Given the description of an element on the screen output the (x, y) to click on. 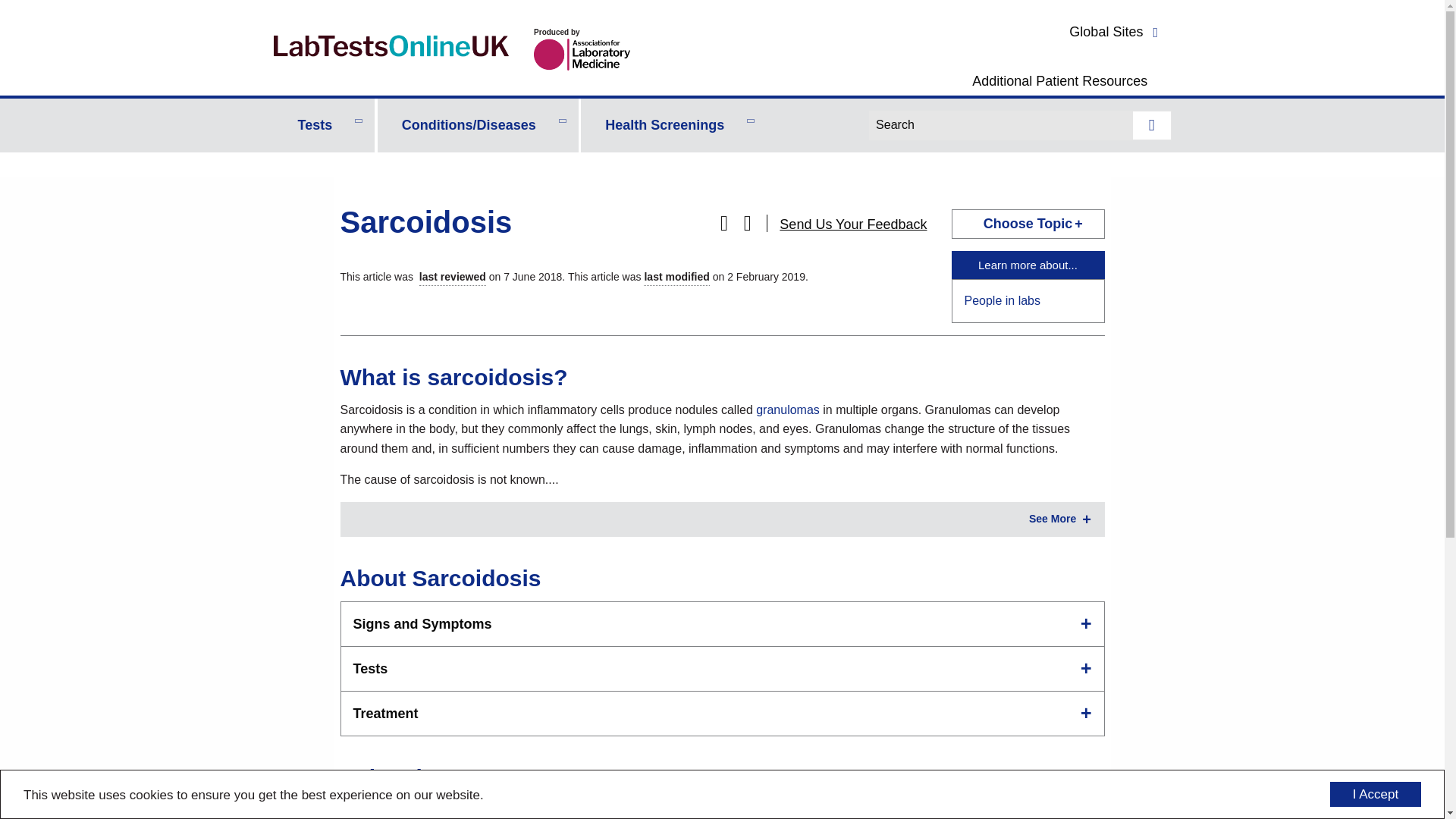
Additional Patient Resources (1059, 80)
Tests (323, 125)
Global Sites   (1116, 31)
